Given the description of an element on the screen output the (x, y) to click on. 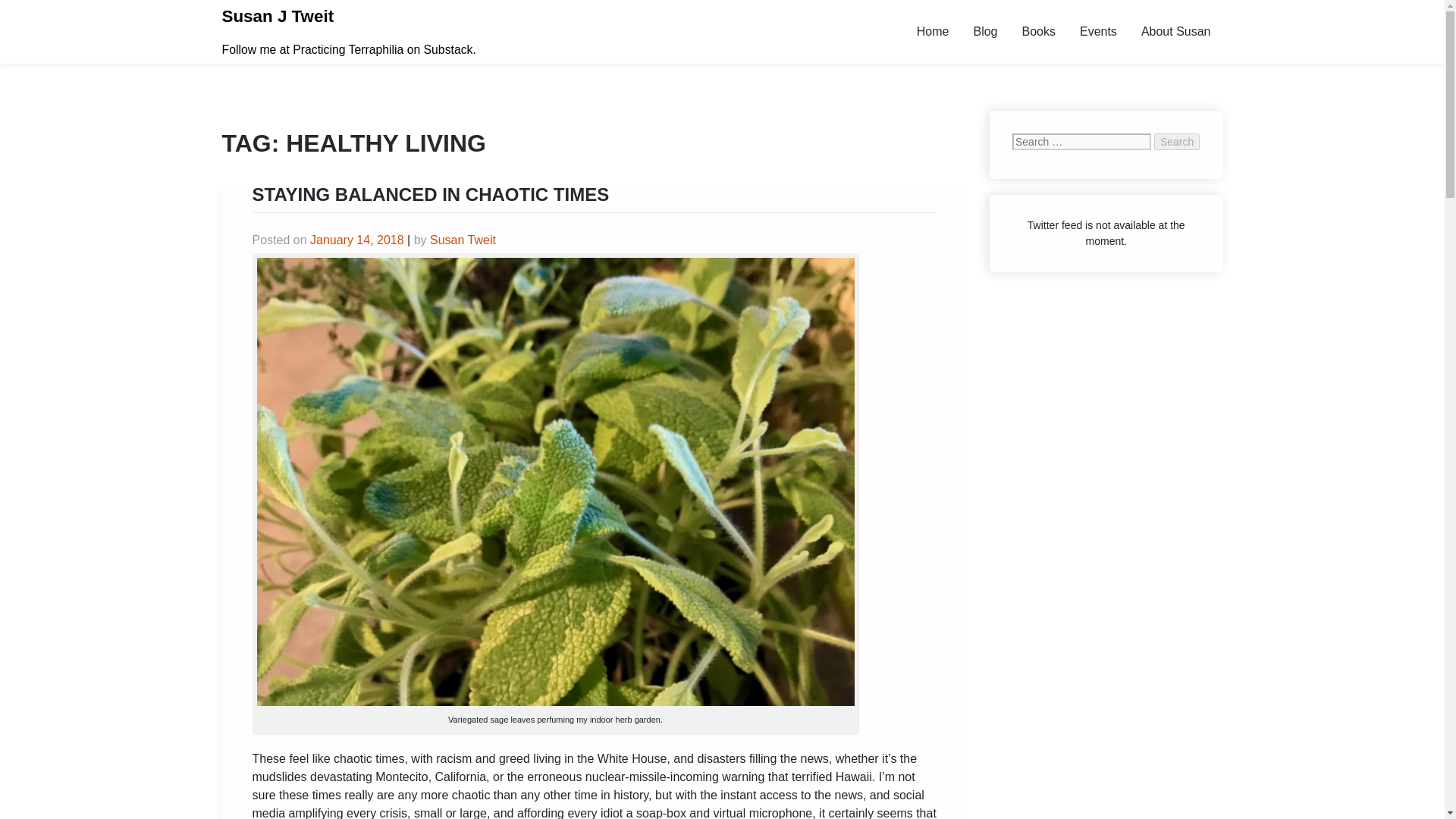
Search (1176, 141)
About Susan (1176, 31)
Books (1038, 31)
Events (1098, 31)
Search (1176, 141)
Home (932, 31)
STAYING BALANCED IN CHAOTIC TIMES (429, 194)
Susan Tweit (462, 239)
Events (1098, 31)
Home (932, 31)
